Given the description of an element on the screen output the (x, y) to click on. 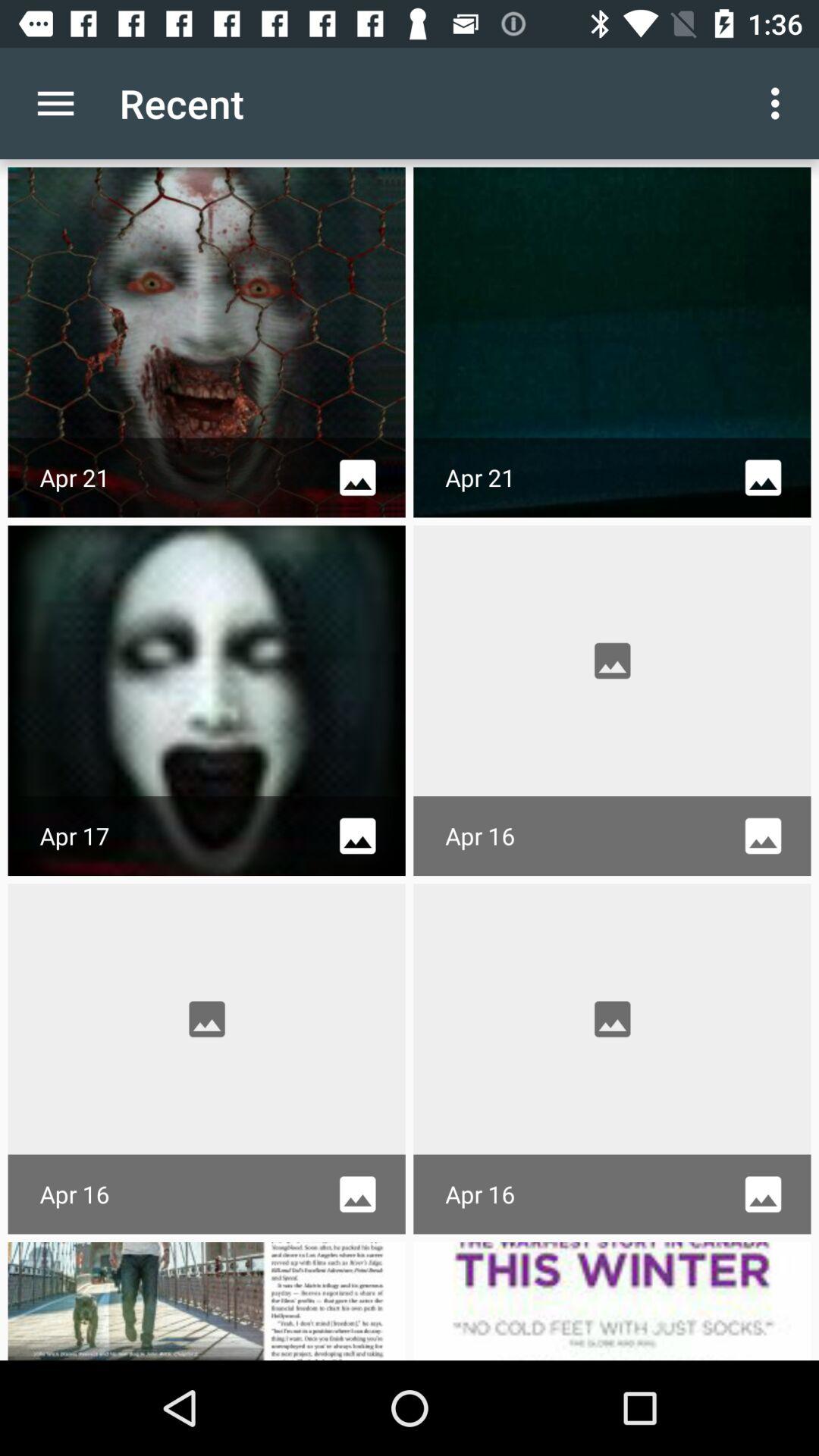
open icon to the left of recent app (55, 103)
